Given the description of an element on the screen output the (x, y) to click on. 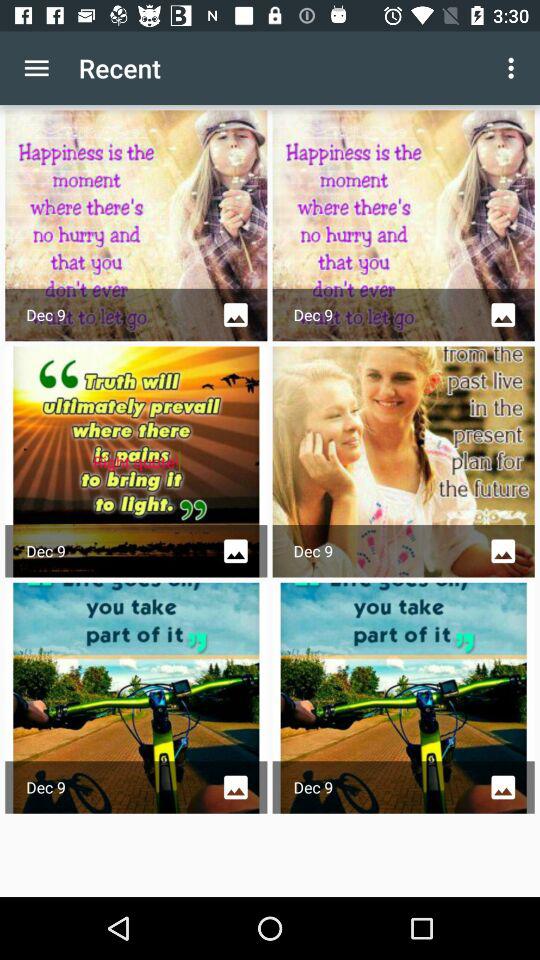
turn on icon above the dec 9 app (513, 67)
